Given the description of an element on the screen output the (x, y) to click on. 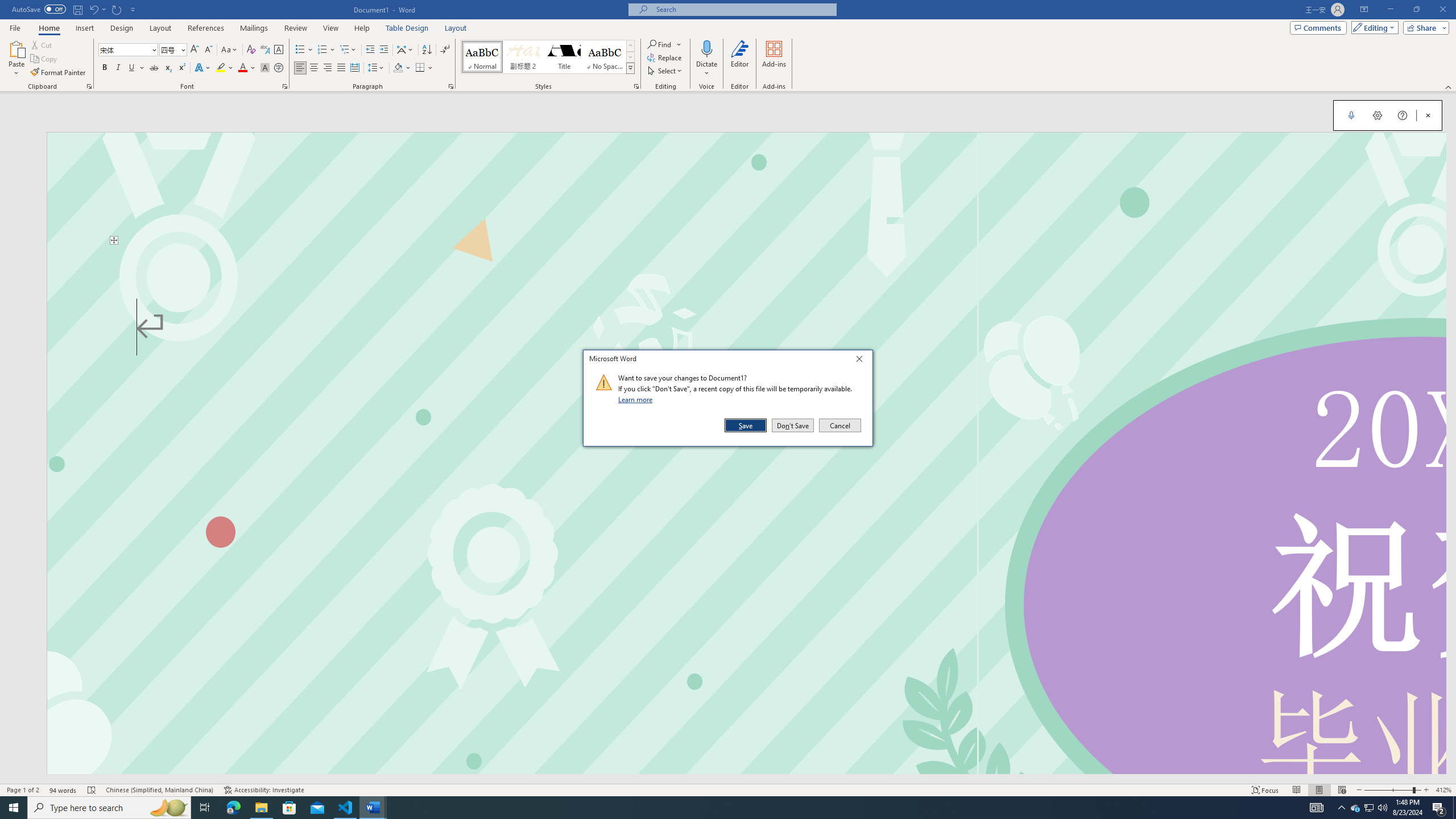
Undo Text Fill Effect (96, 9)
Type here to search (108, 807)
